Given the description of an element on the screen output the (x, y) to click on. 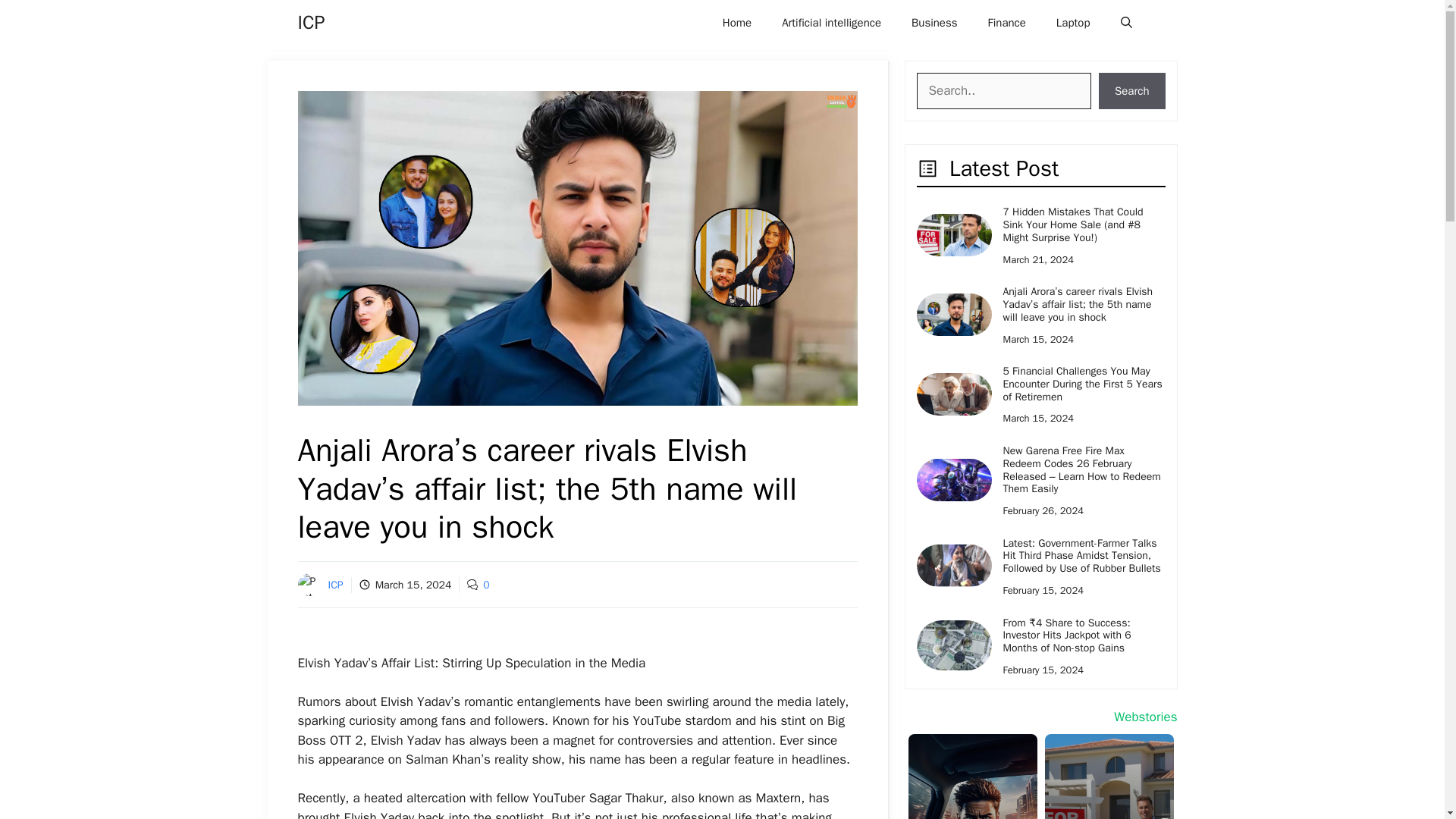
Laptop (1073, 22)
ICP (334, 584)
Home (737, 22)
Search (1132, 90)
Artificial intelligence (831, 22)
Business (934, 22)
Finance (1006, 22)
